Given the description of an element on the screen output the (x, y) to click on. 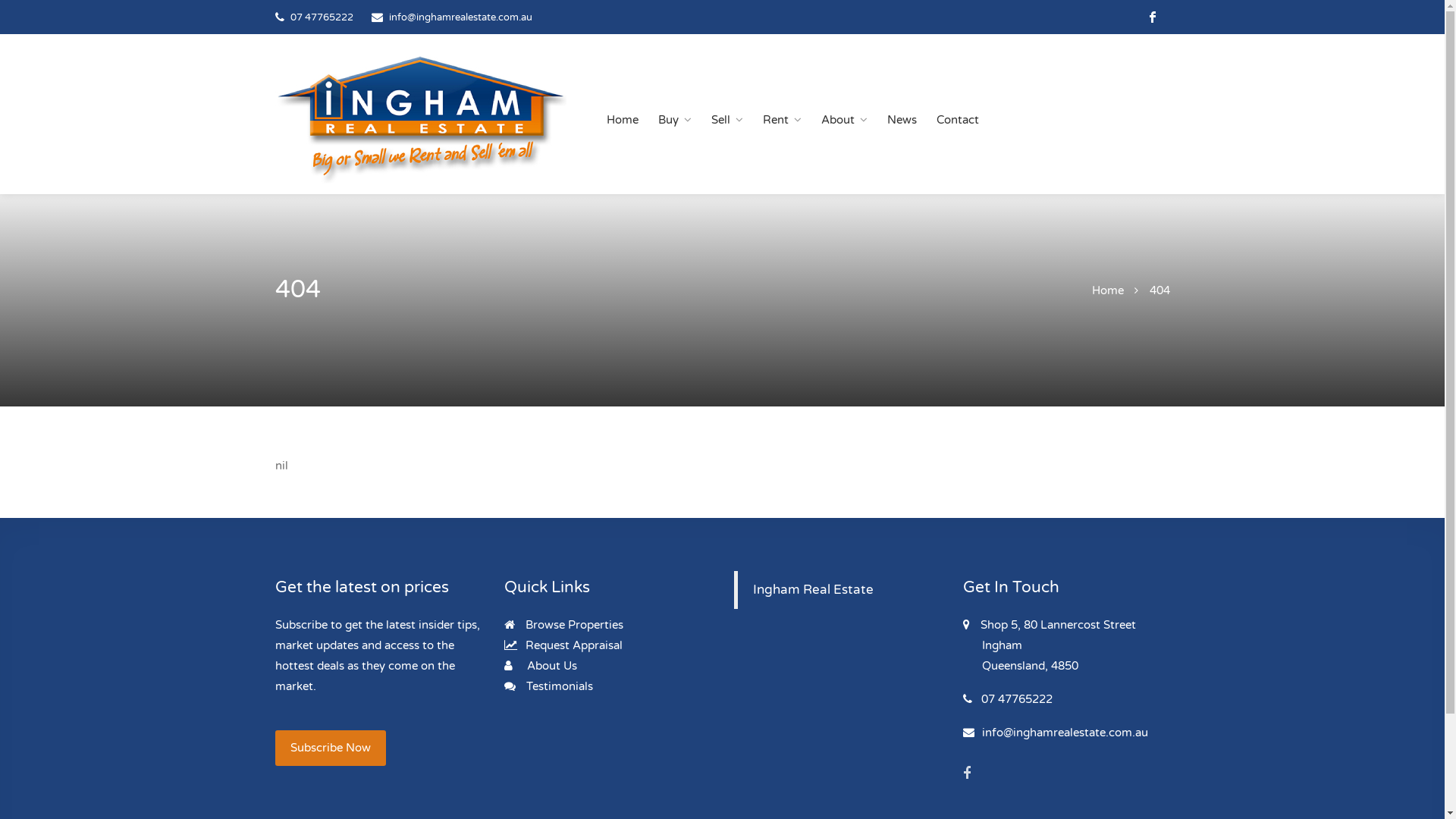
About Us Element type: text (540, 665)
Home Element type: text (622, 119)
Request Appraisal Element type: text (563, 645)
Ingham Real Estate Element type: text (812, 589)
About Element type: text (843, 119)
News Element type: text (901, 119)
07 47765222 Element type: text (320, 17)
Rent Element type: text (781, 119)
info@inghamrealestate.com.au Element type: text (459, 17)
Sell Element type: text (727, 119)
Contact Element type: text (956, 119)
Subscribe Now Element type: text (329, 747)
Testimonials Element type: text (548, 686)
Browse Properties Element type: text (563, 624)
Home Element type: text (1107, 290)
07 47765222 Element type: text (1007, 699)
info@inghamrealestate.com.au Element type: text (1055, 732)
Buy Element type: text (674, 119)
